Given the description of an element on the screen output the (x, y) to click on. 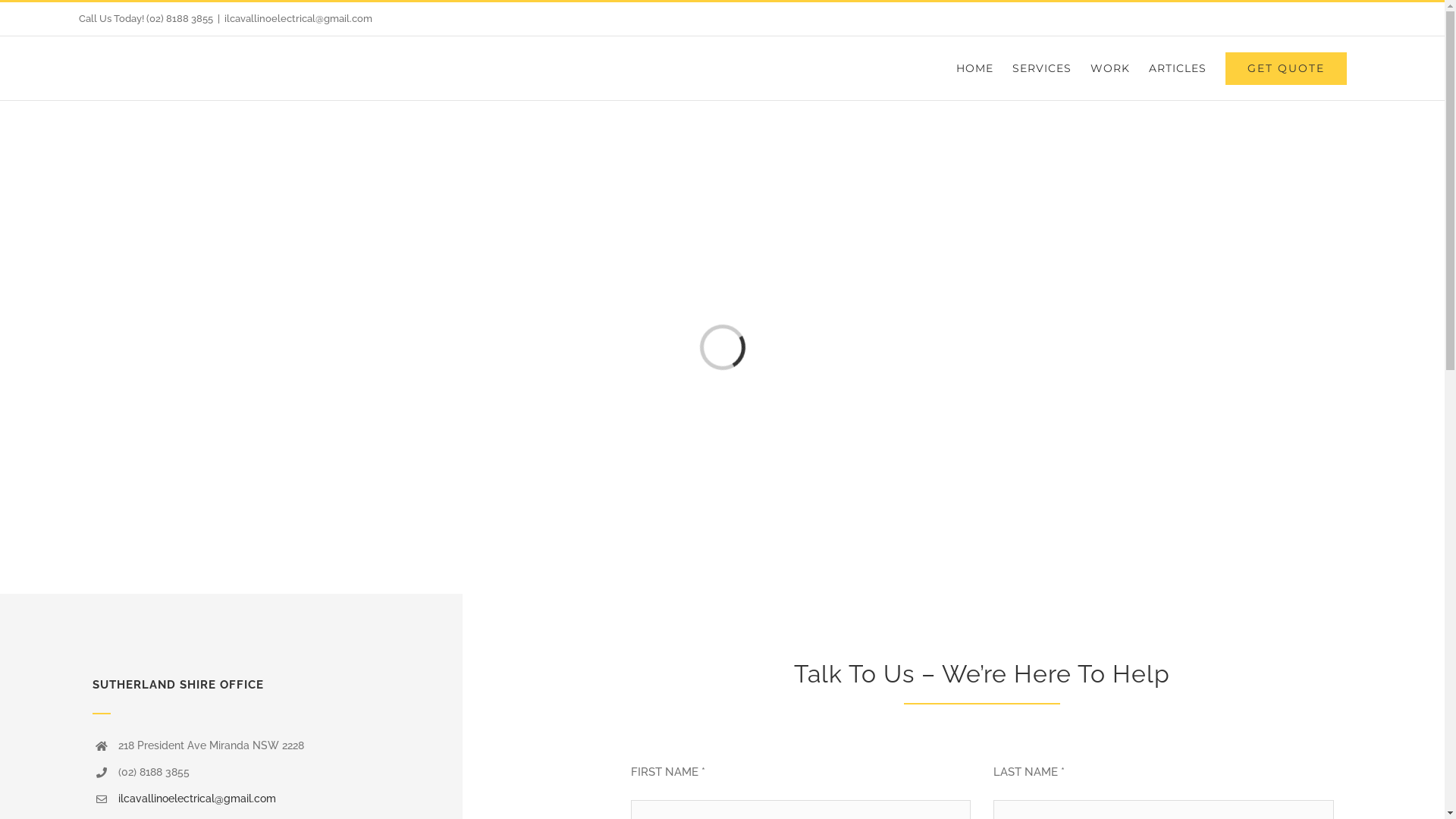
SERVICES Element type: text (1041, 68)
WORK Element type: text (1109, 68)
GET QUOTE Element type: text (1285, 68)
ARTICLES Element type: text (1177, 68)
ilcavallinoelectrical@gmail.com Element type: text (298, 18)
HOME Element type: text (974, 68)
ilcavallinoelectrical@gmail.com Element type: text (197, 798)
